Given the description of an element on the screen output the (x, y) to click on. 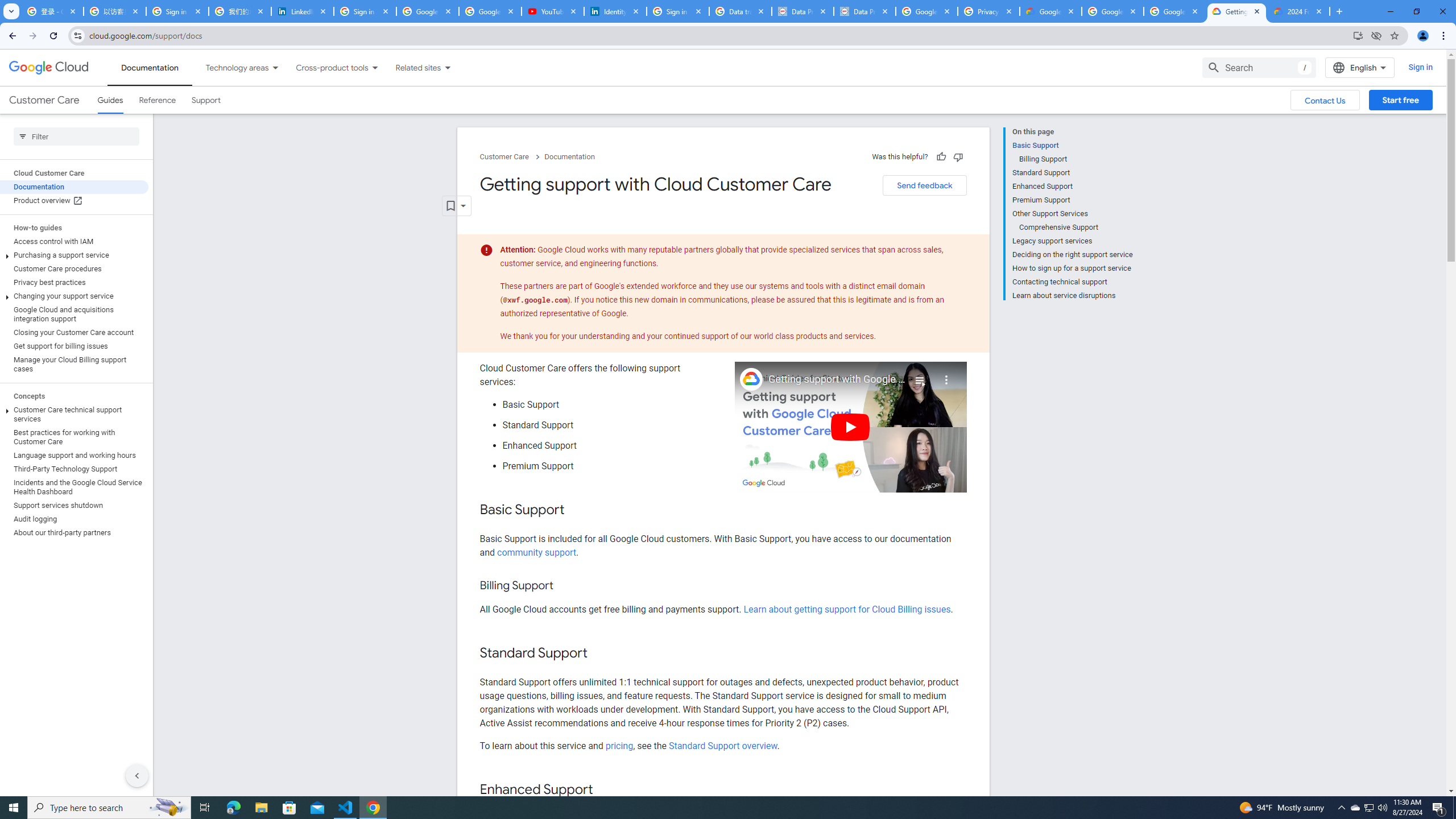
community support (536, 552)
Open dropdown (456, 205)
Manage your Cloud Billing support cases (74, 363)
